Given the description of an element on the screen output the (x, y) to click on. 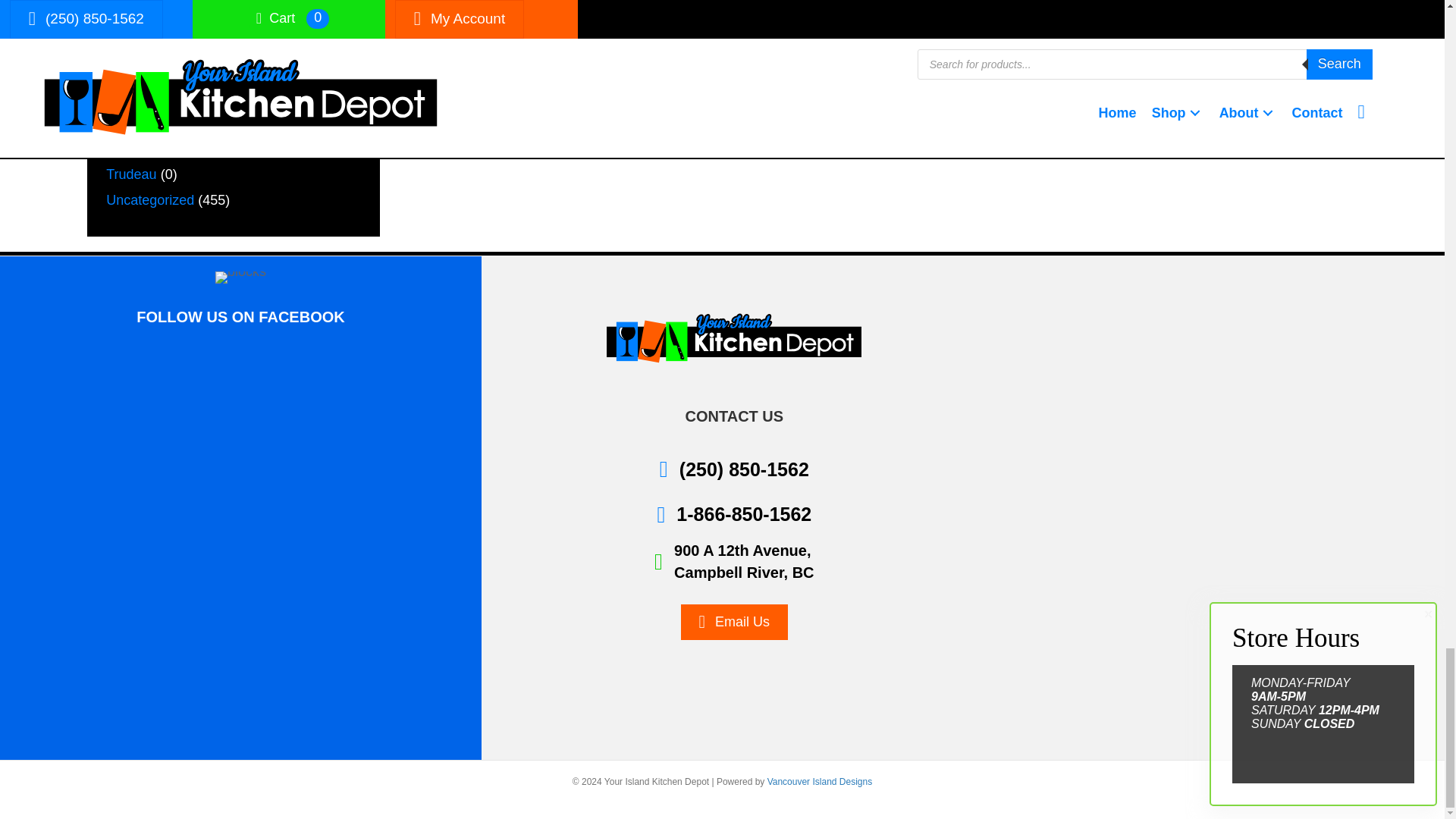
your island kitchen logo (733, 338)
blocks (240, 277)
